Given the description of an element on the screen output the (x, y) to click on. 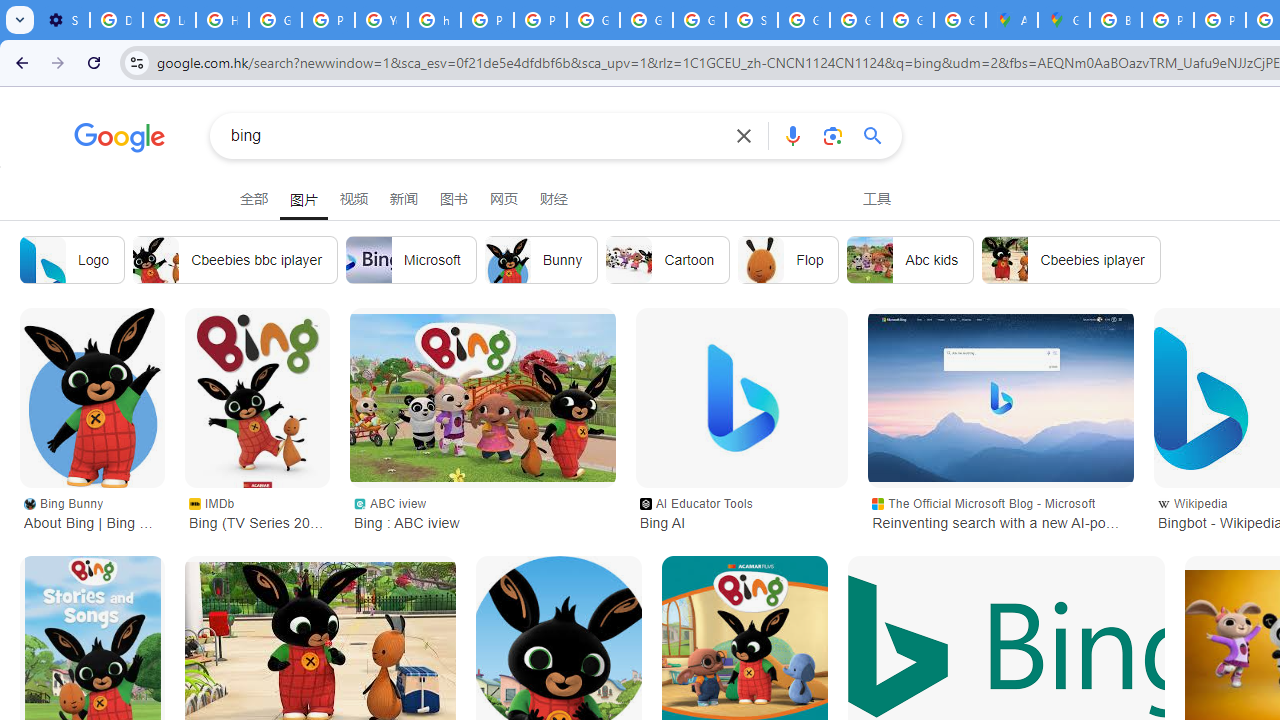
Delete photos & videos - Computer - Google Photos Help (116, 20)
Bing : ABC iview (482, 398)
Blogger Policies and Guidelines - Transparency Center (1115, 20)
About Bing | Bing Bunny (92, 398)
YouTube (381, 20)
Bing Bunny About Bing | Bing Bunny (92, 511)
